Given the description of an element on the screen output the (x, y) to click on. 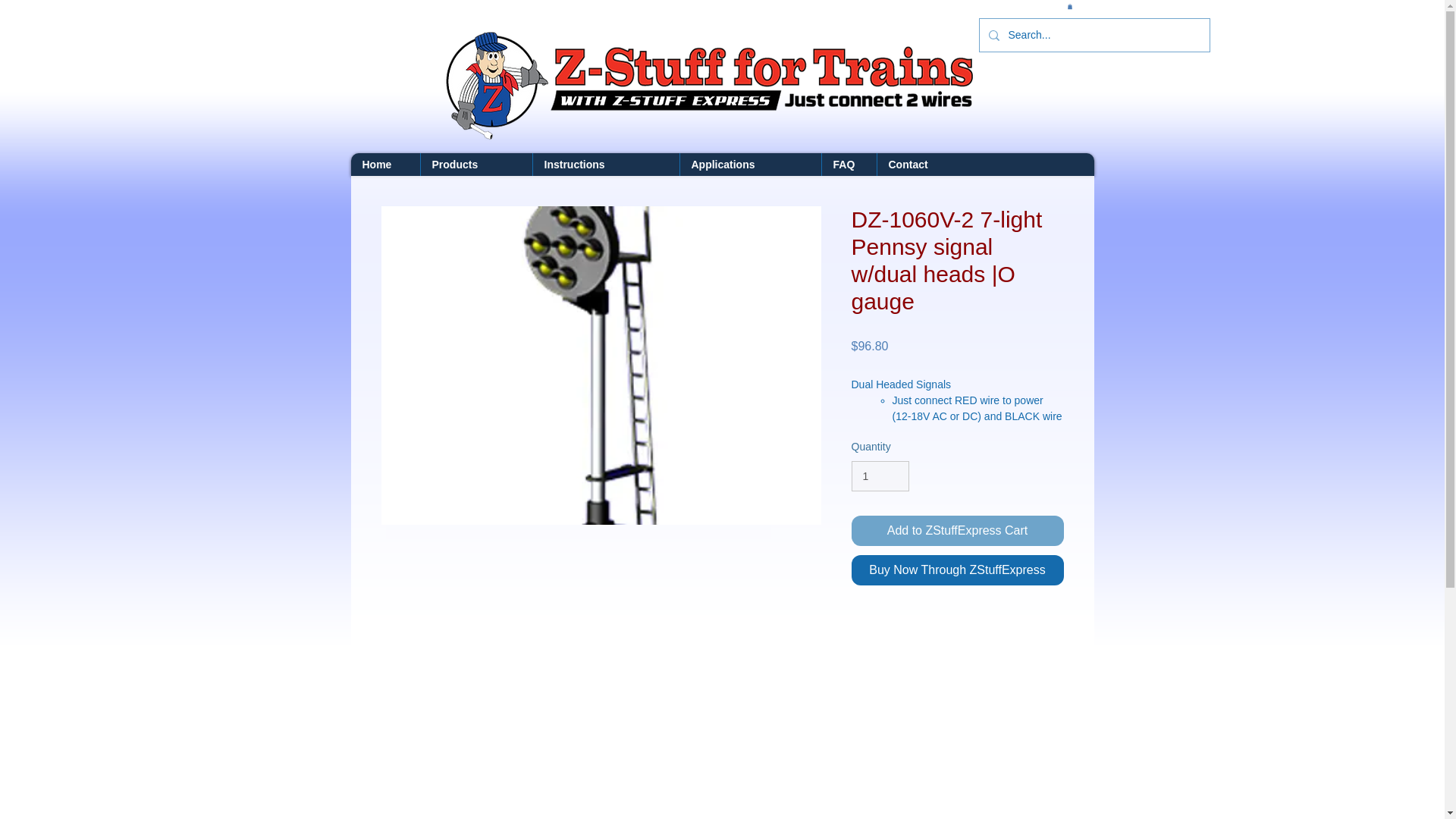
Contact (926, 164)
Buy Now Through ZStuffExpress (956, 570)
Add to ZStuffExpress Cart (956, 530)
FAQ (848, 164)
Products (476, 164)
Instructions (605, 164)
Applications (750, 164)
1 (879, 476)
Home (384, 164)
